Given the description of an element on the screen output the (x, y) to click on. 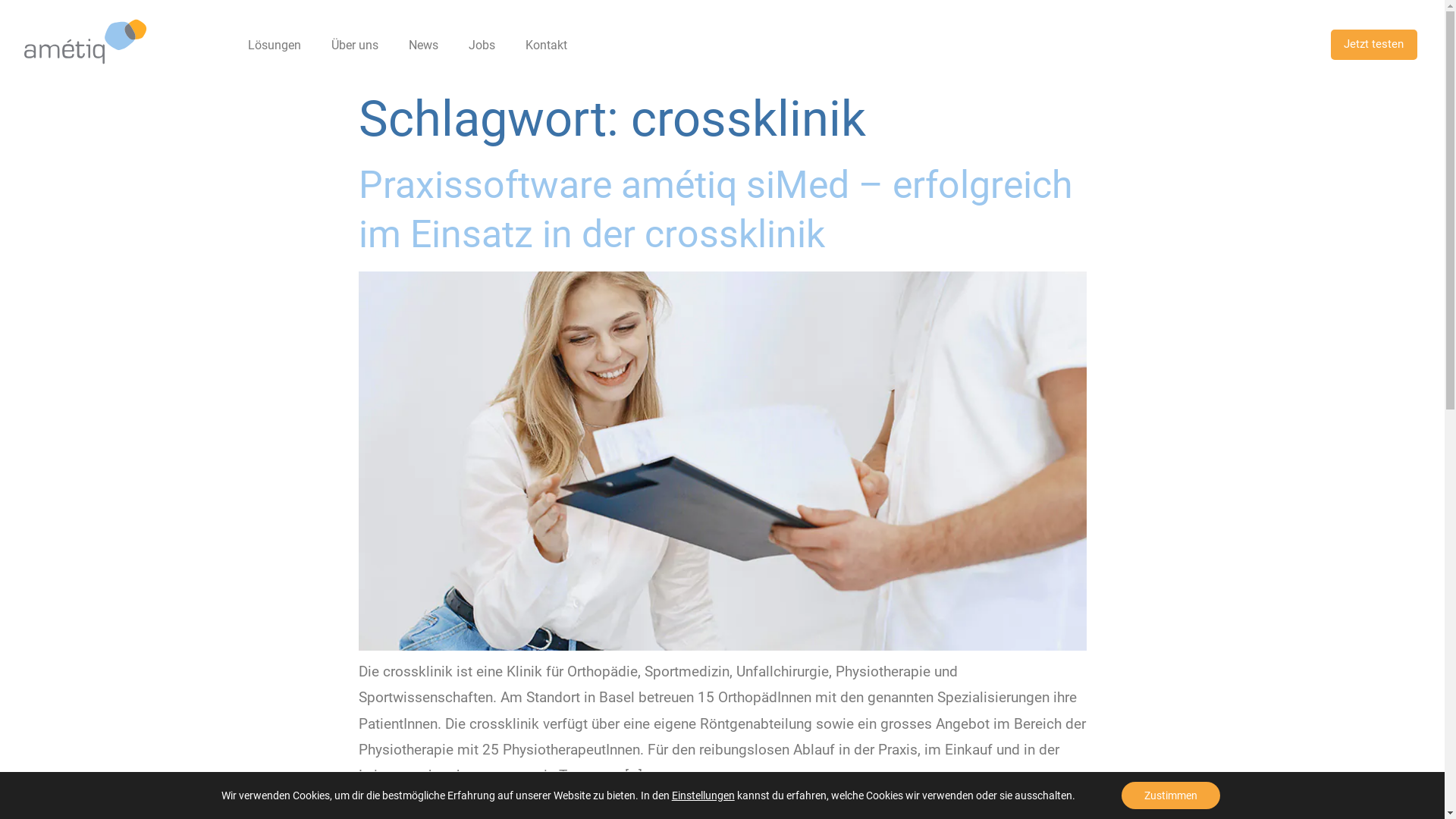
Jobs Element type: text (481, 45)
News Element type: text (423, 45)
Jetzt testen Element type: text (1373, 43)
Einstellungen Element type: text (702, 795)
Kontakt Element type: text (546, 45)
Zustimmen Element type: text (1170, 795)
